Given the description of an element on the screen output the (x, y) to click on. 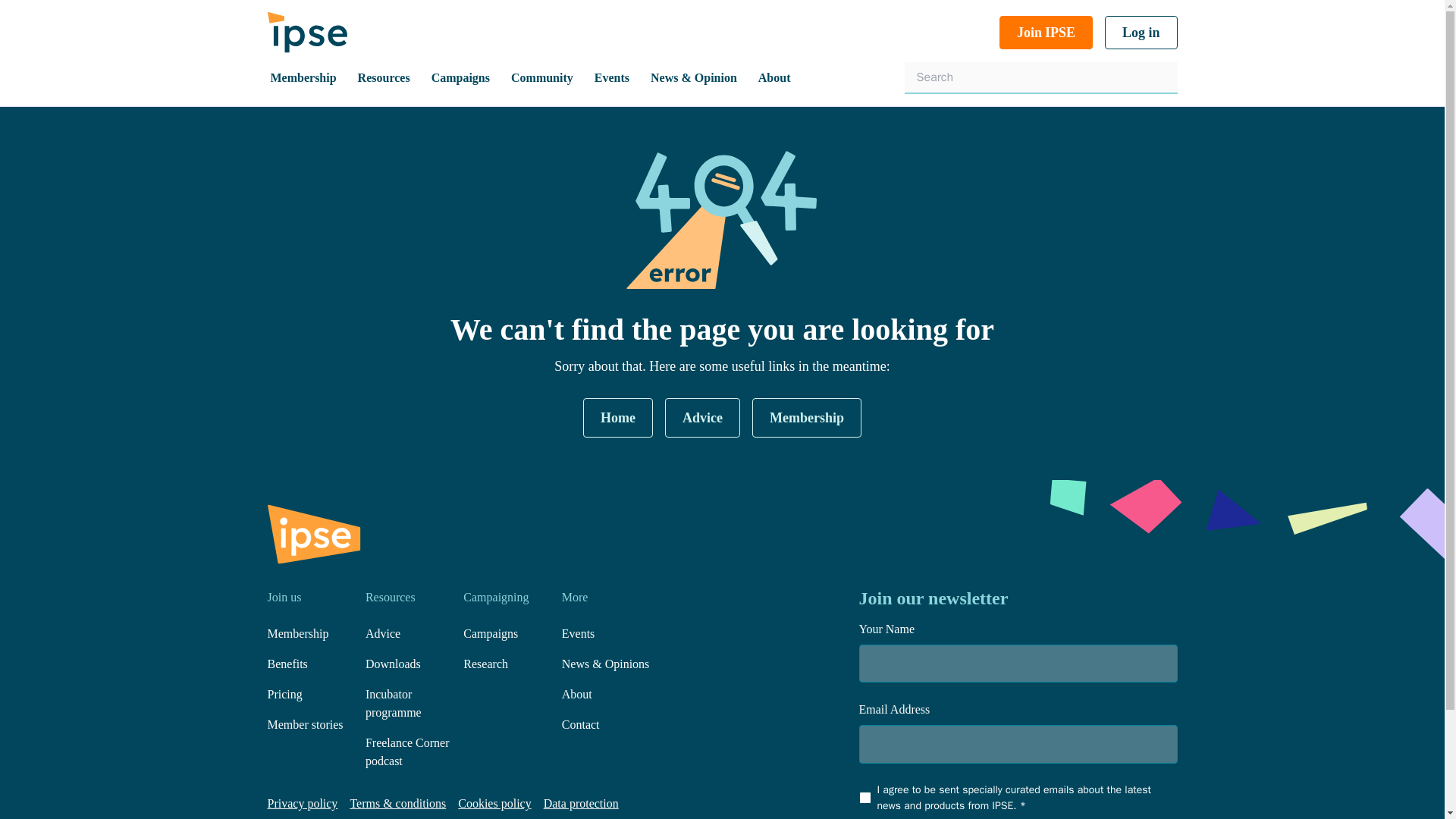
Membership (806, 416)
Research (485, 663)
Campaigns (490, 633)
Downloads (392, 663)
Member stories (304, 724)
on (864, 797)
Membership (297, 633)
Advice (382, 633)
Privacy policy (301, 802)
Benefits (286, 663)
